Given the description of an element on the screen output the (x, y) to click on. 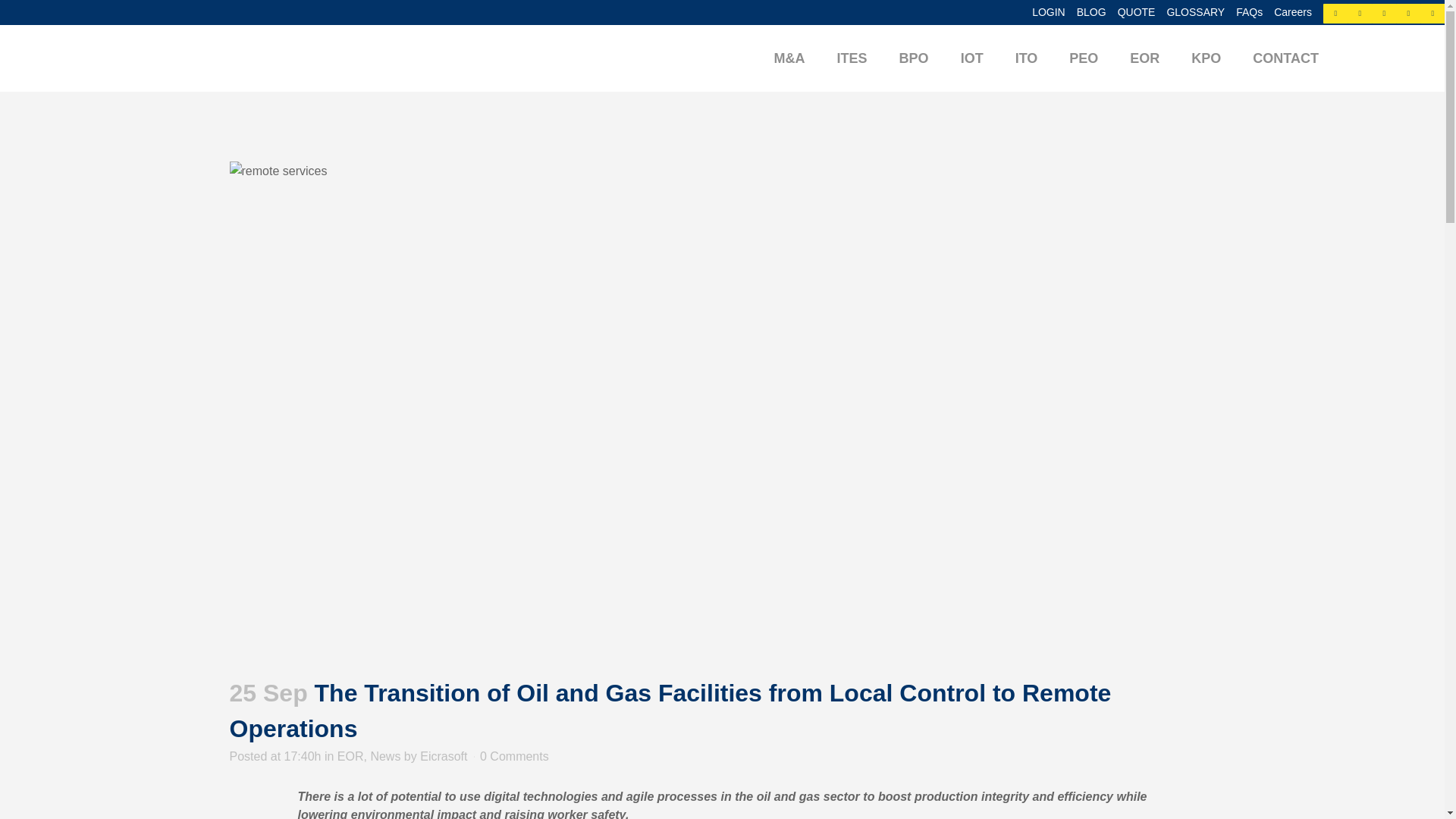
FAQs (1243, 12)
Careers (1286, 12)
QUOTE (1131, 12)
ITES (852, 58)
LOGIN (1042, 12)
BLOG (1085, 12)
GLOSSARY (1189, 12)
